Given the description of an element on the screen output the (x, y) to click on. 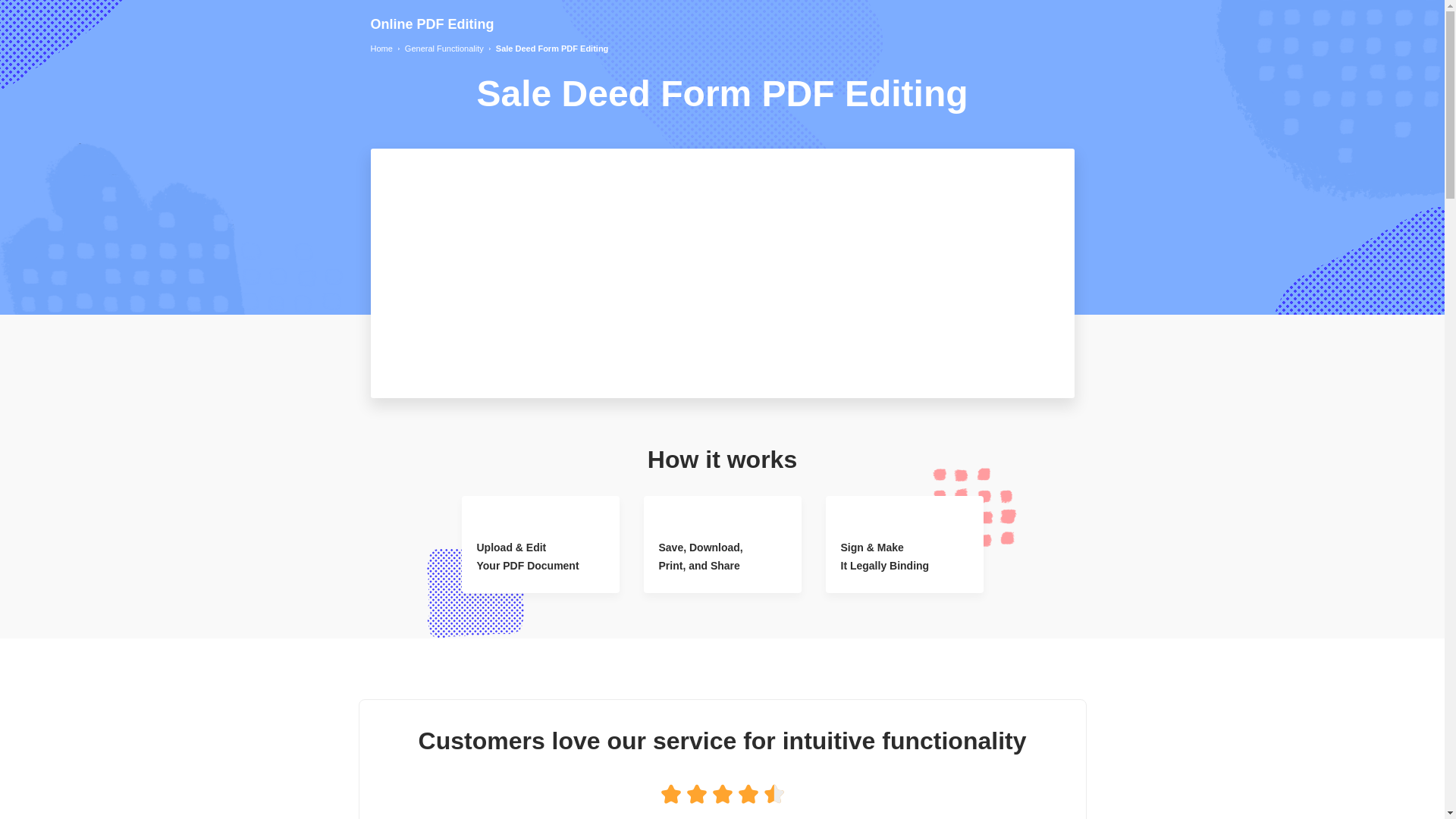
Home (380, 48)
Online PDF Editing (431, 23)
General Functionality (443, 48)
Sale Deed Form PDF Editing (552, 48)
